Given the description of an element on the screen output the (x, y) to click on. 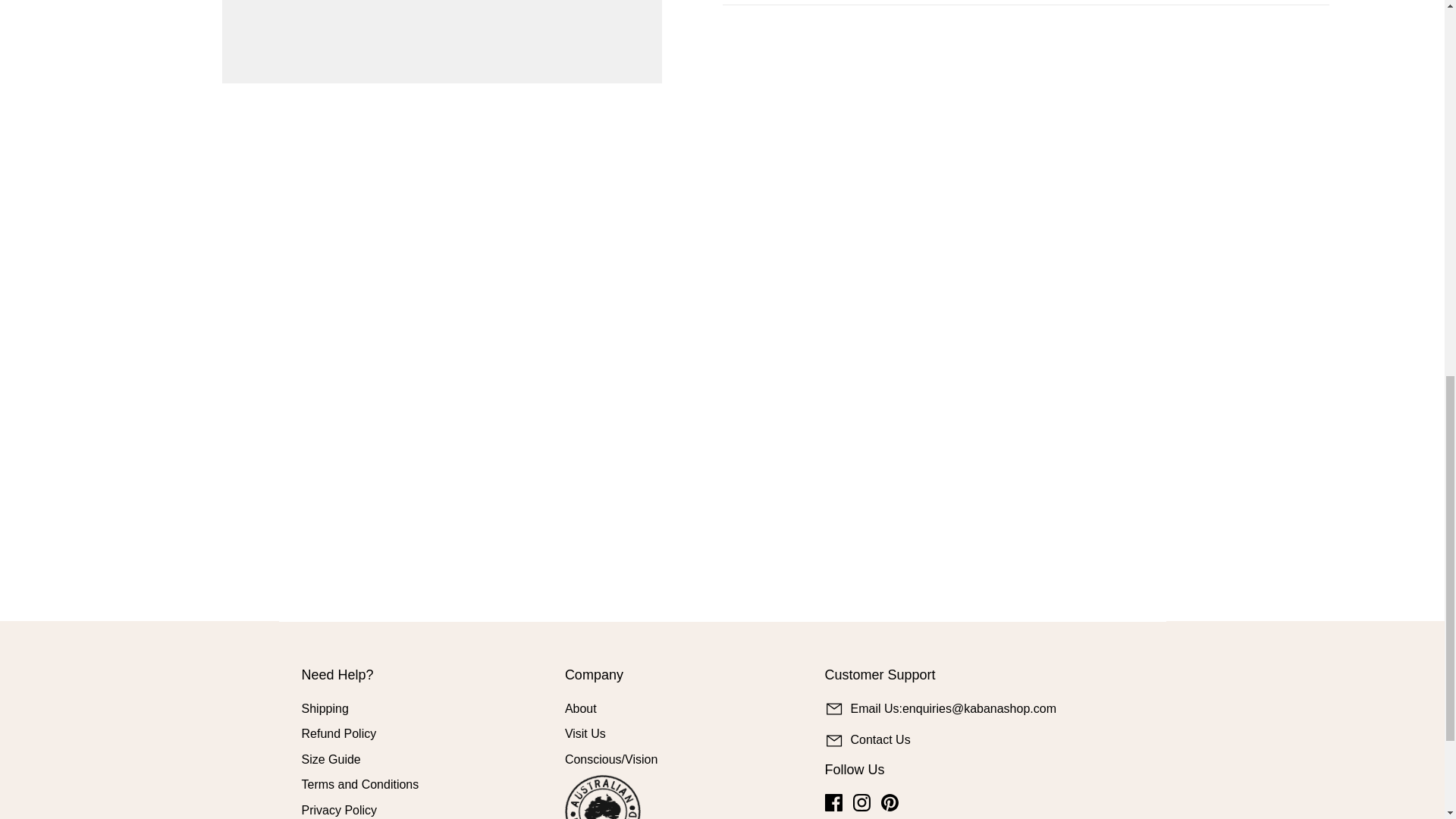
Pinterest (889, 802)
Instagram (861, 802)
Facebook (834, 802)
